Given the description of an element on the screen output the (x, y) to click on. 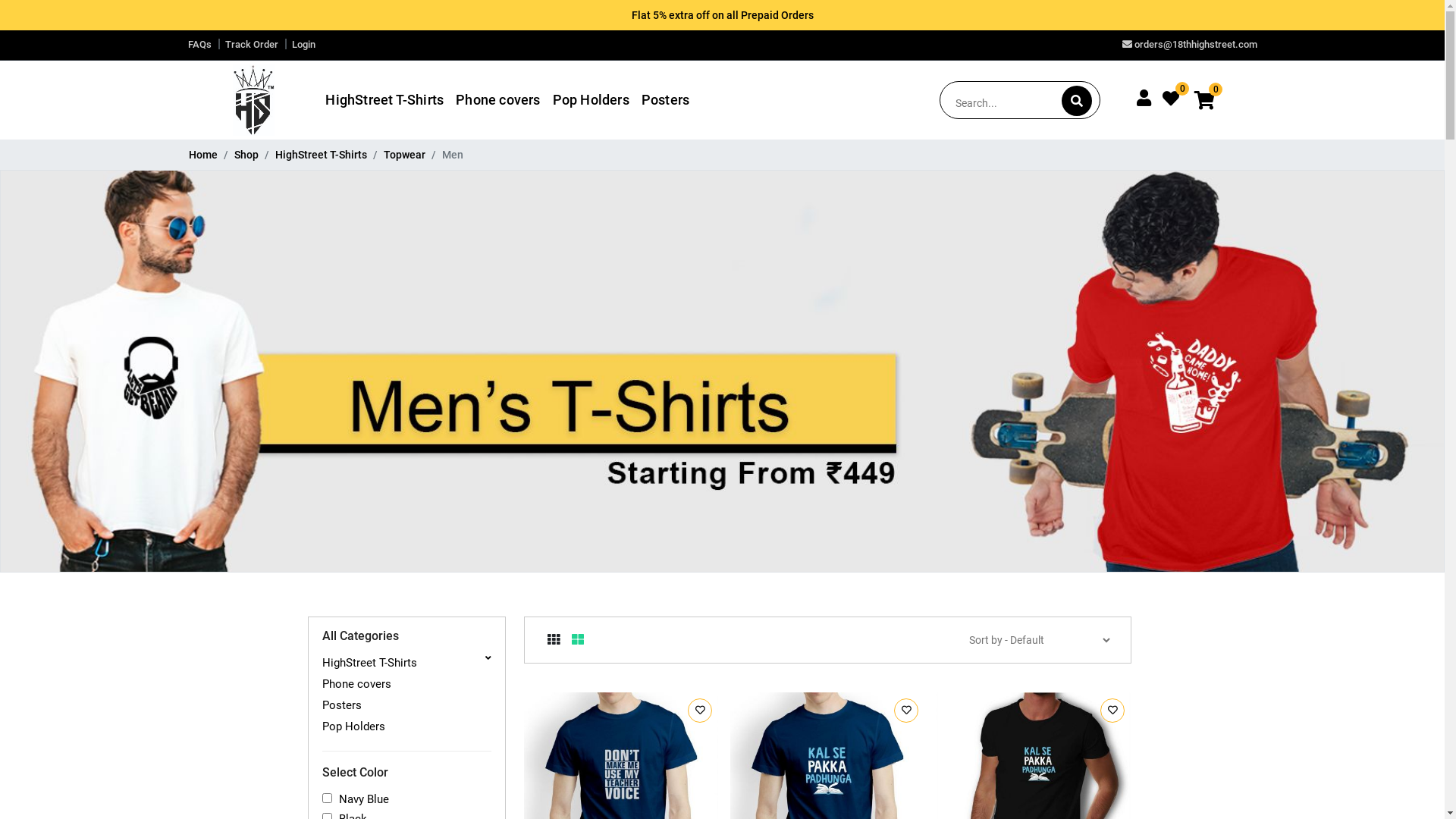
HighStreet T-Shirts Element type: text (406, 662)
10855 Element type: text (1112, 710)
Phone covers Element type: text (406, 683)
Track Order Element type: text (250, 44)
Pop Holders Element type: text (406, 726)
Posters Element type: text (406, 705)
FAQs Element type: text (199, 44)
HighStreet T-Shirts Element type: text (384, 99)
Home Element type: text (202, 154)
HighStreet T-Shirts Element type: text (320, 154)
Topwear Element type: text (404, 154)
Login Element type: text (302, 44)
orders@18thhighstreet.com Element type: text (1189, 44)
Phone covers Element type: text (497, 99)
Pop Holders Element type: text (590, 99)
Shop Element type: text (245, 154)
10857 Element type: text (699, 710)
Posters Element type: text (665, 99)
10856 Element type: text (906, 710)
